Given the description of an element on the screen output the (x, y) to click on. 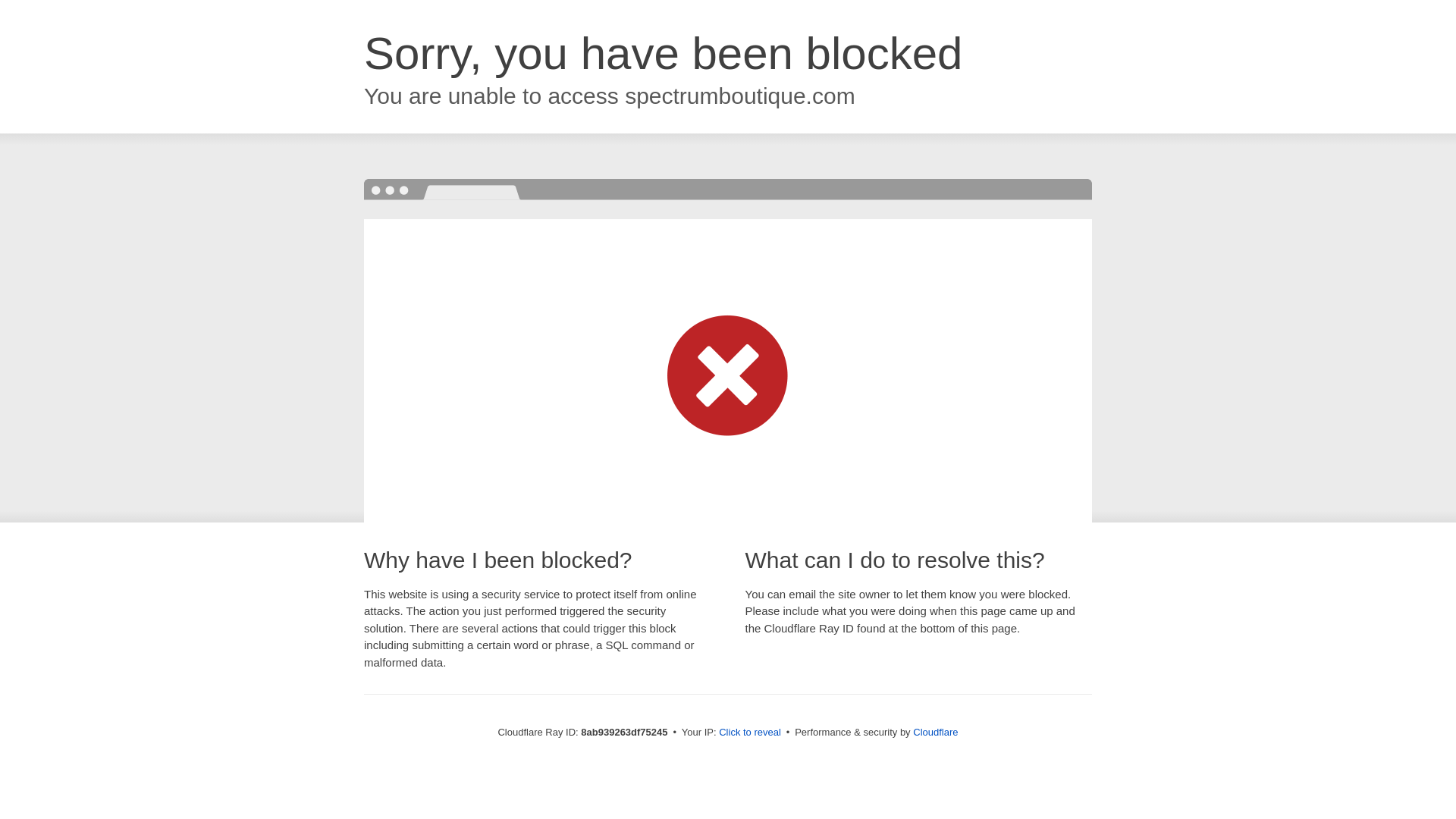
Cloudflare (935, 731)
Click to reveal (749, 732)
